Given the description of an element on the screen output the (x, y) to click on. 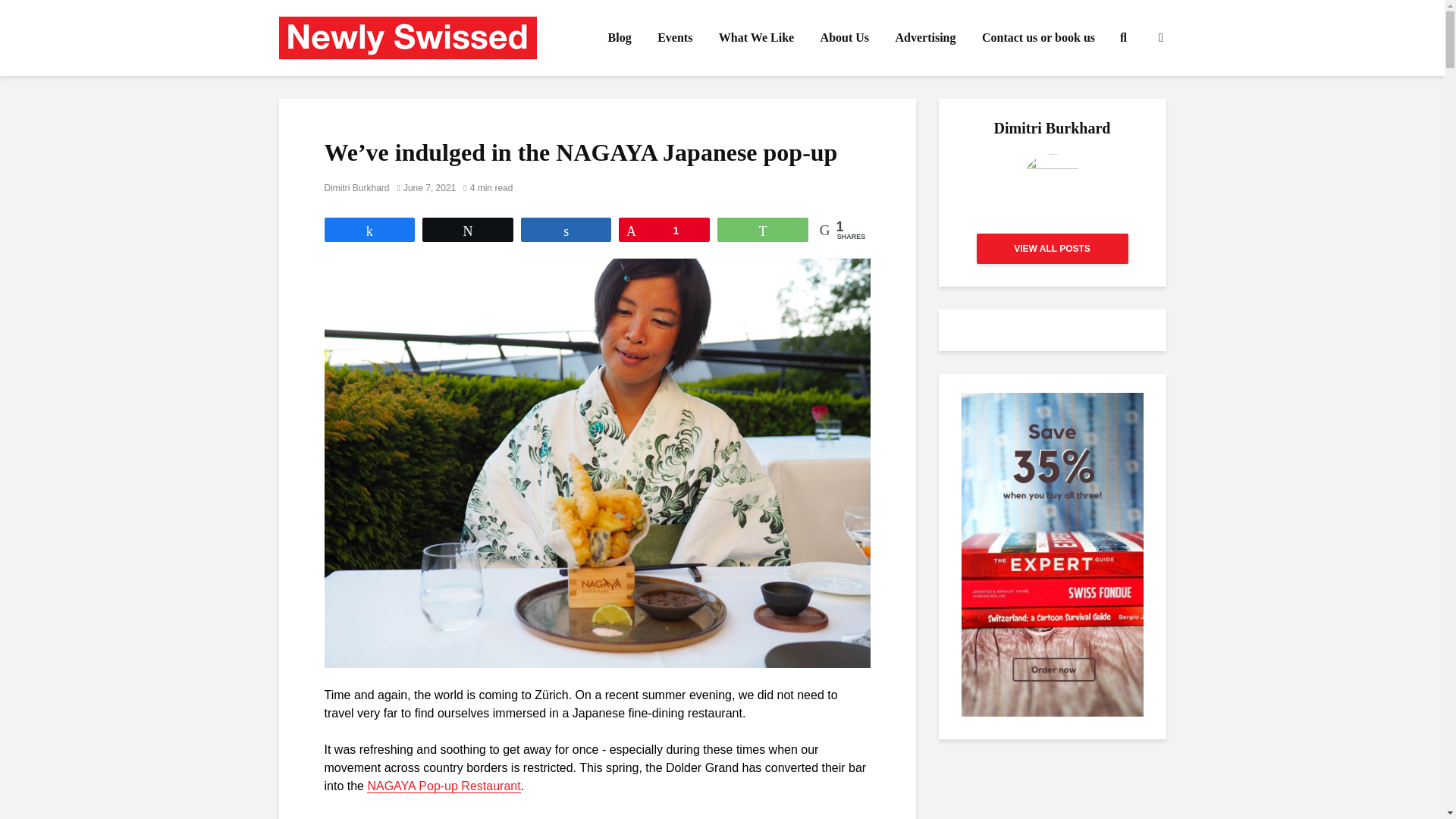
Events (674, 37)
Contact us or book us (1038, 37)
What We Like (756, 37)
About Us (844, 37)
Blog (619, 37)
Advertising (925, 37)
